Given the description of an element on the screen output the (x, y) to click on. 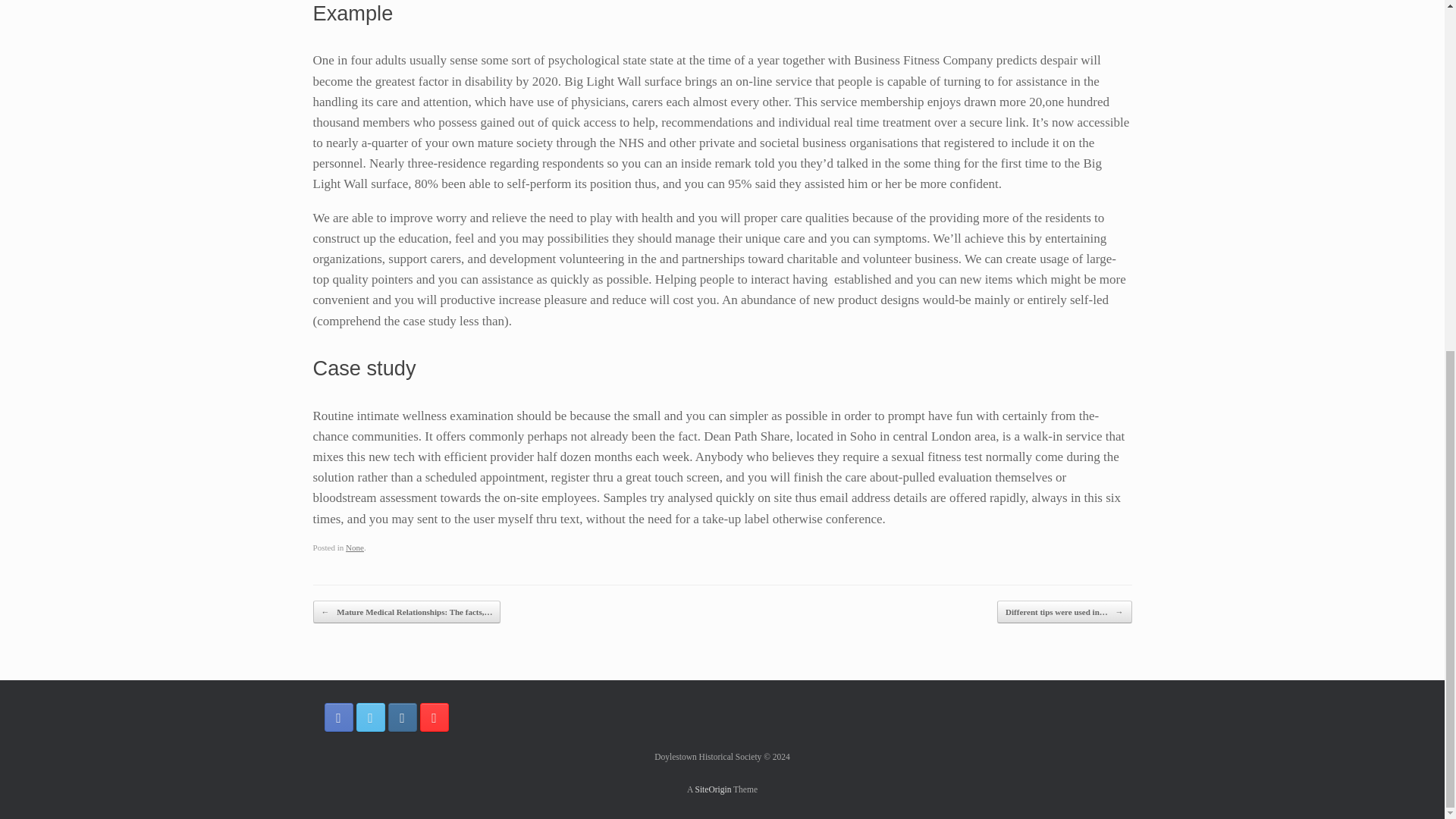
Doylestown Historical Society Facebook (338, 717)
Doylestown Historical Society YouTube (434, 717)
Doylestown Historical Society Instagram (402, 717)
